Given the description of an element on the screen output the (x, y) to click on. 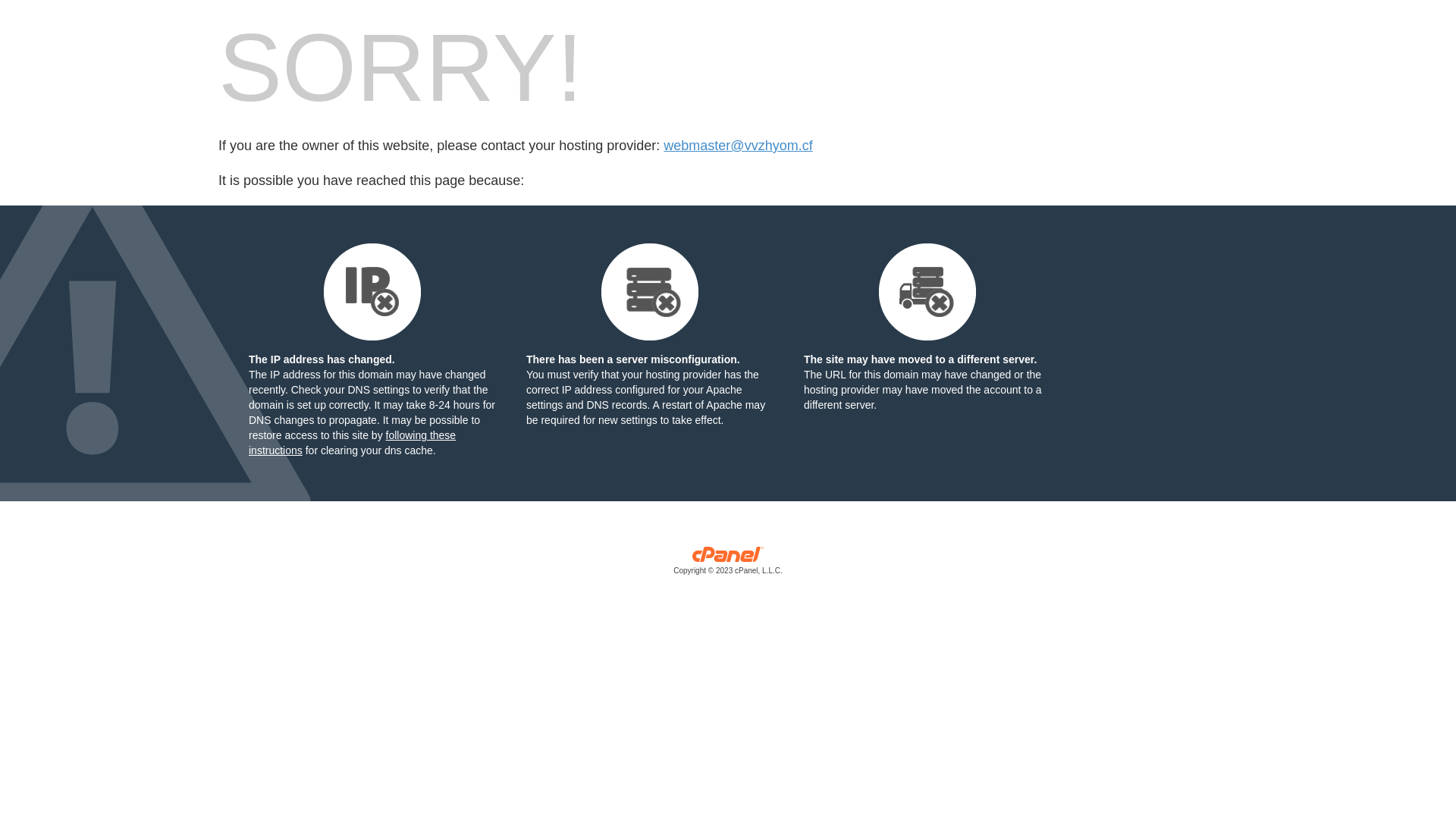
webmaster@vvzhyom.cf Element type: text (737, 145)
following these instructions Element type: text (351, 442)
